Given the description of an element on the screen output the (x, y) to click on. 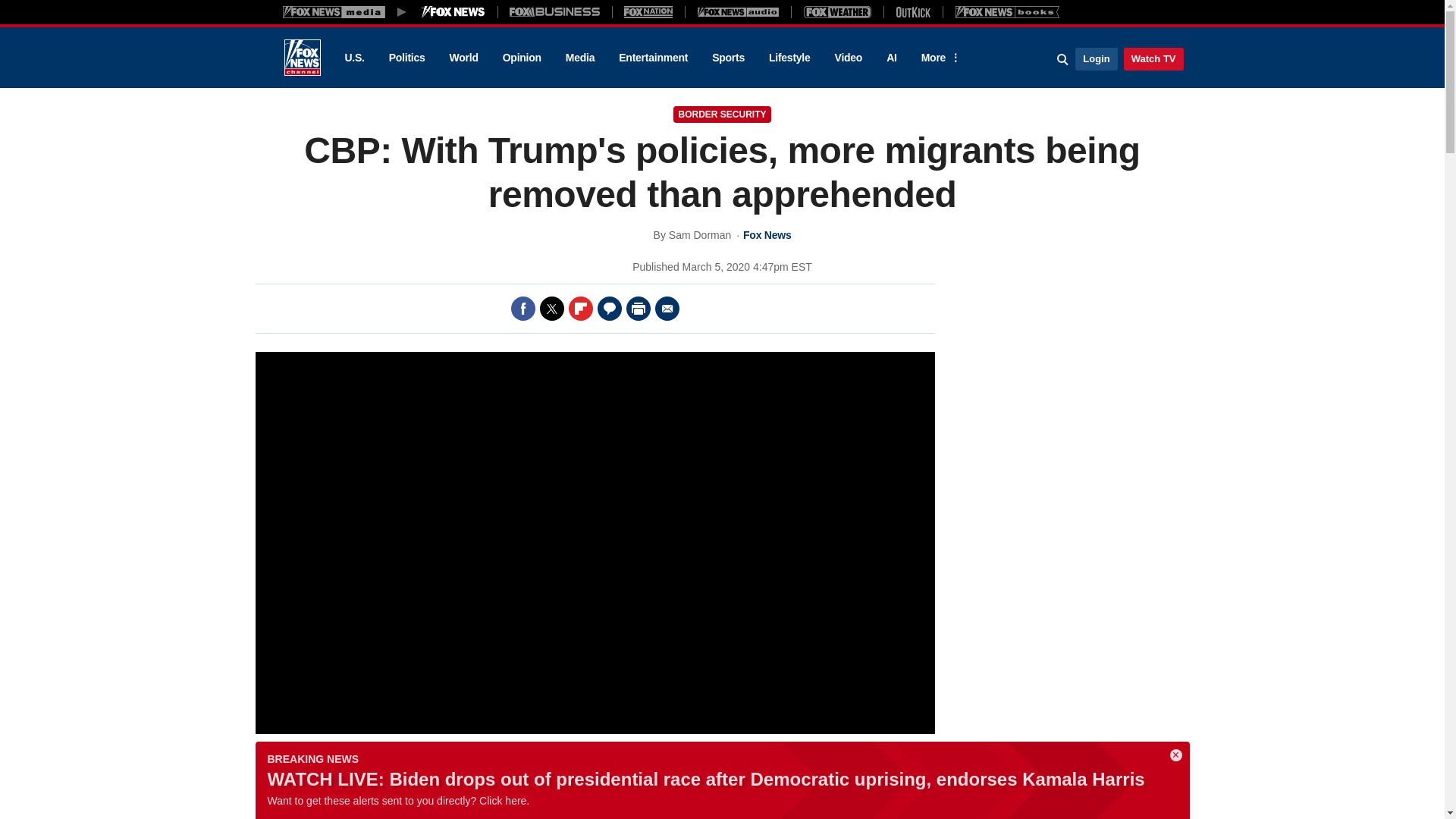
AI (891, 57)
Fox News Audio (737, 11)
Fox Business (554, 11)
World (464, 57)
Opinion (521, 57)
Books (1007, 11)
Login (1095, 58)
Watch TV (1153, 58)
Sports (728, 57)
Fox Weather (836, 11)
Fox Nation (648, 11)
Outkick (912, 11)
Fox News (301, 57)
Lifestyle (789, 57)
Fox News Media (453, 11)
